Given the description of an element on the screen output the (x, y) to click on. 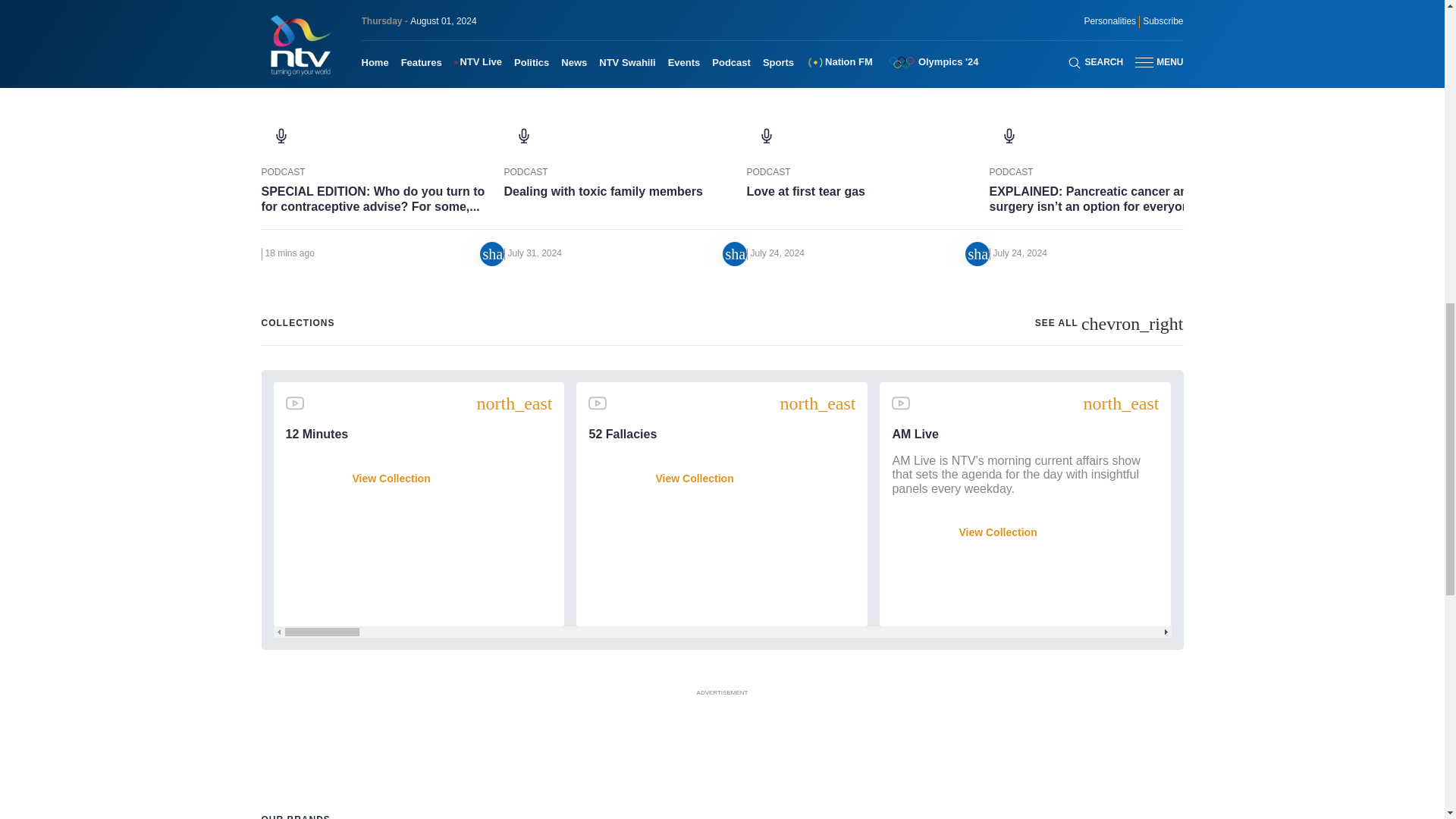
Dealing with toxic family members (624, 172)
Dealing with toxic family members (624, 207)
